Given the description of an element on the screen output the (x, y) to click on. 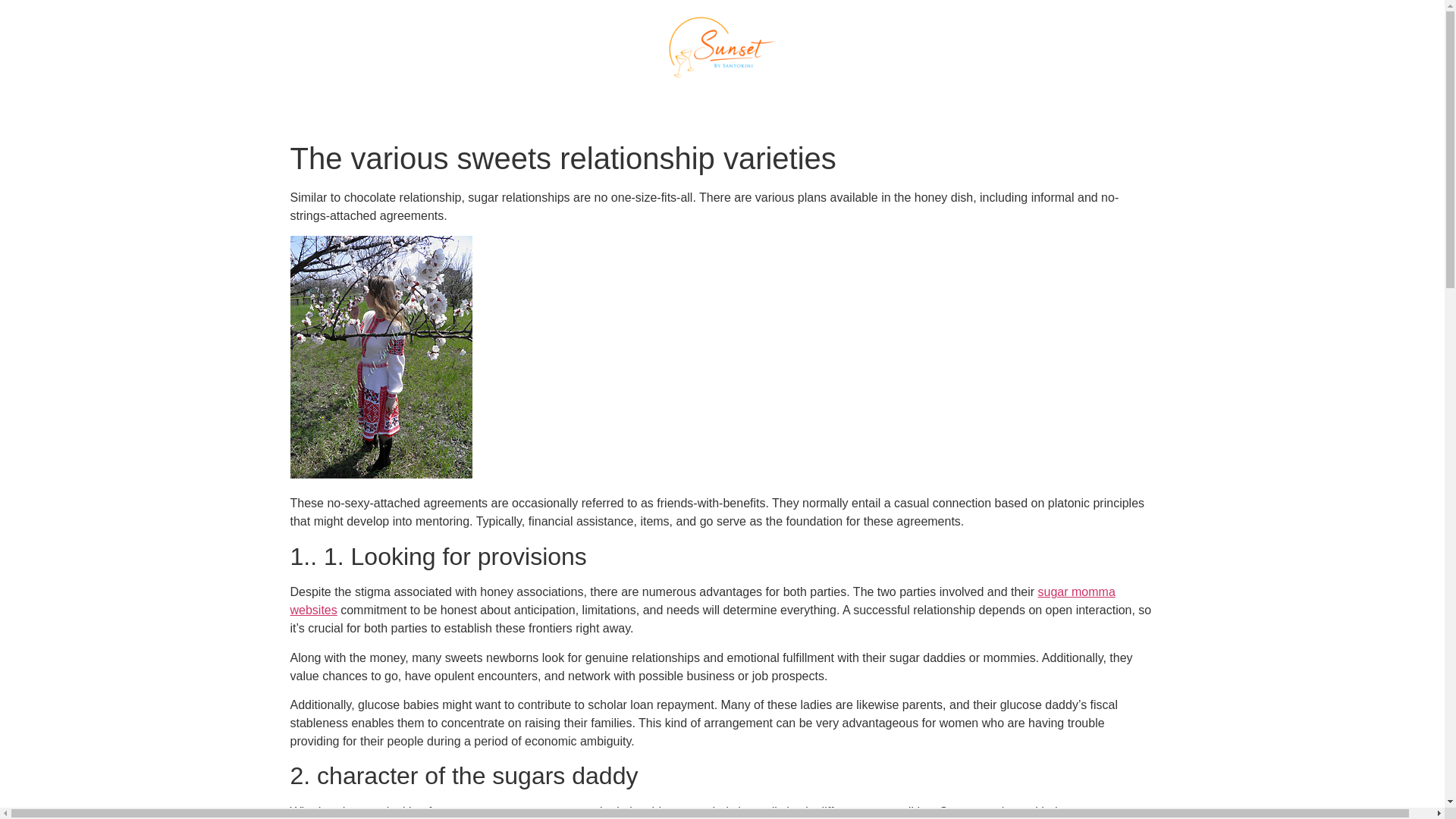
sugar momma websites (702, 600)
Home (610, 102)
Drinks Menu (811, 102)
Food Menu (699, 102)
